Given the description of an element on the screen output the (x, y) to click on. 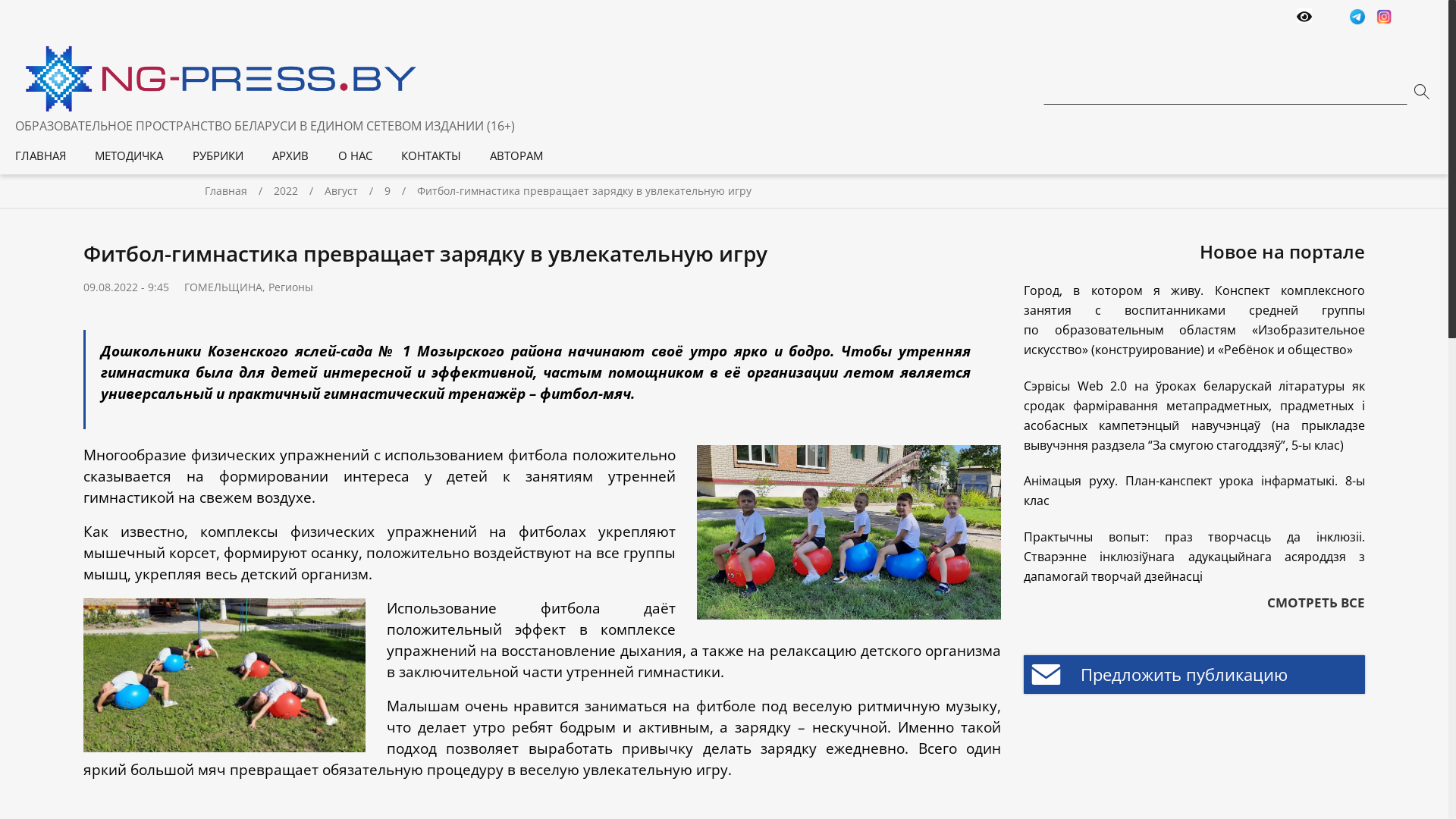
09.08.2022 Element type: text (110, 286)
2022 Element type: text (298, 190)
Telegram Element type: hover (1357, 18)
9 Element type: text (400, 190)
